Given the description of an element on the screen output the (x, y) to click on. 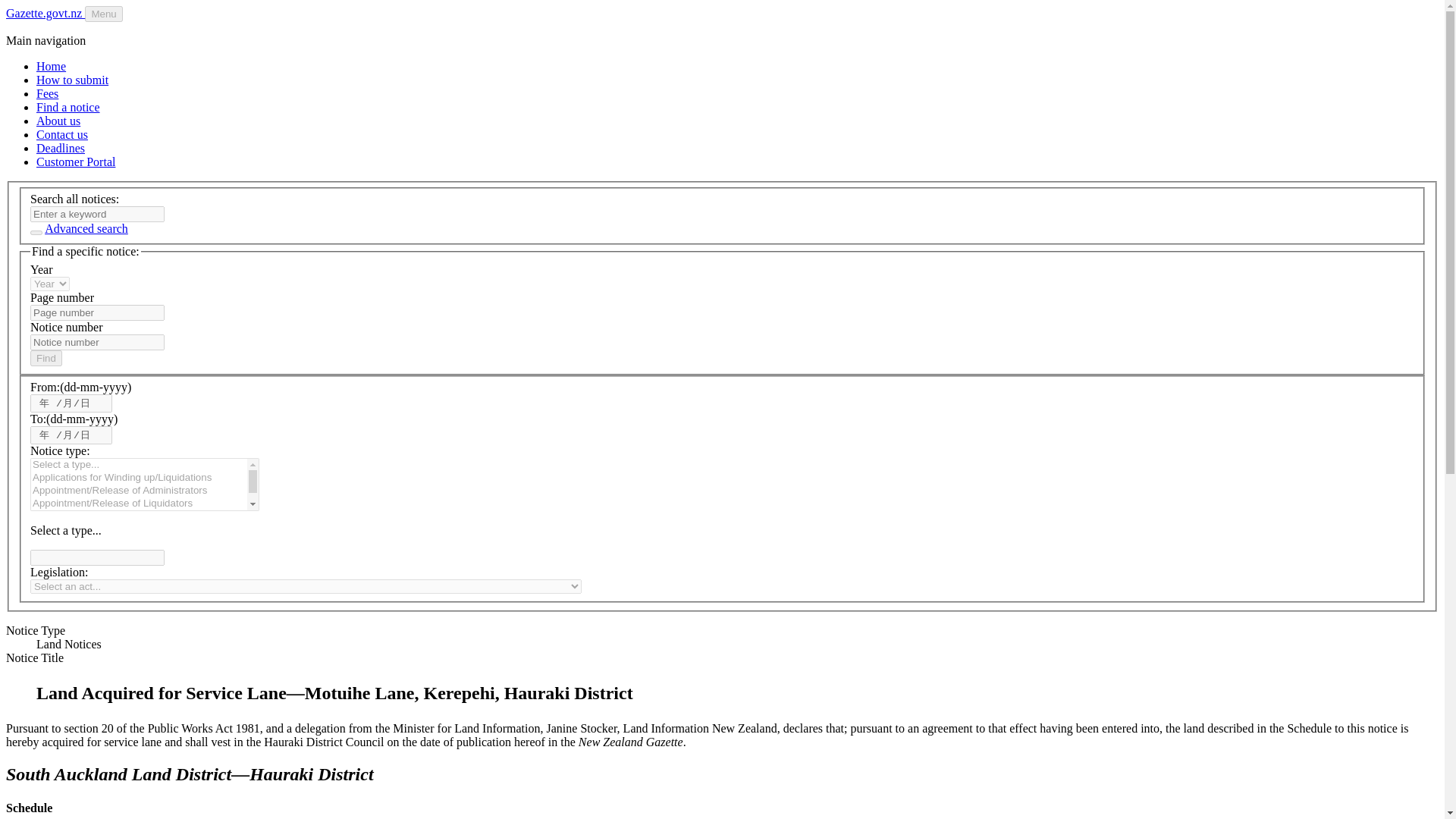
Home (50, 65)
About us (58, 120)
Find a notice (68, 106)
How to submit (71, 79)
Fees (47, 92)
Find (46, 358)
Gazette.govt.nz (44, 12)
Contact us (61, 133)
Menu (103, 13)
Customer Portal (75, 161)
Find (46, 358)
Deadlines (60, 147)
Advanced search (86, 228)
